Given the description of an element on the screen output the (x, y) to click on. 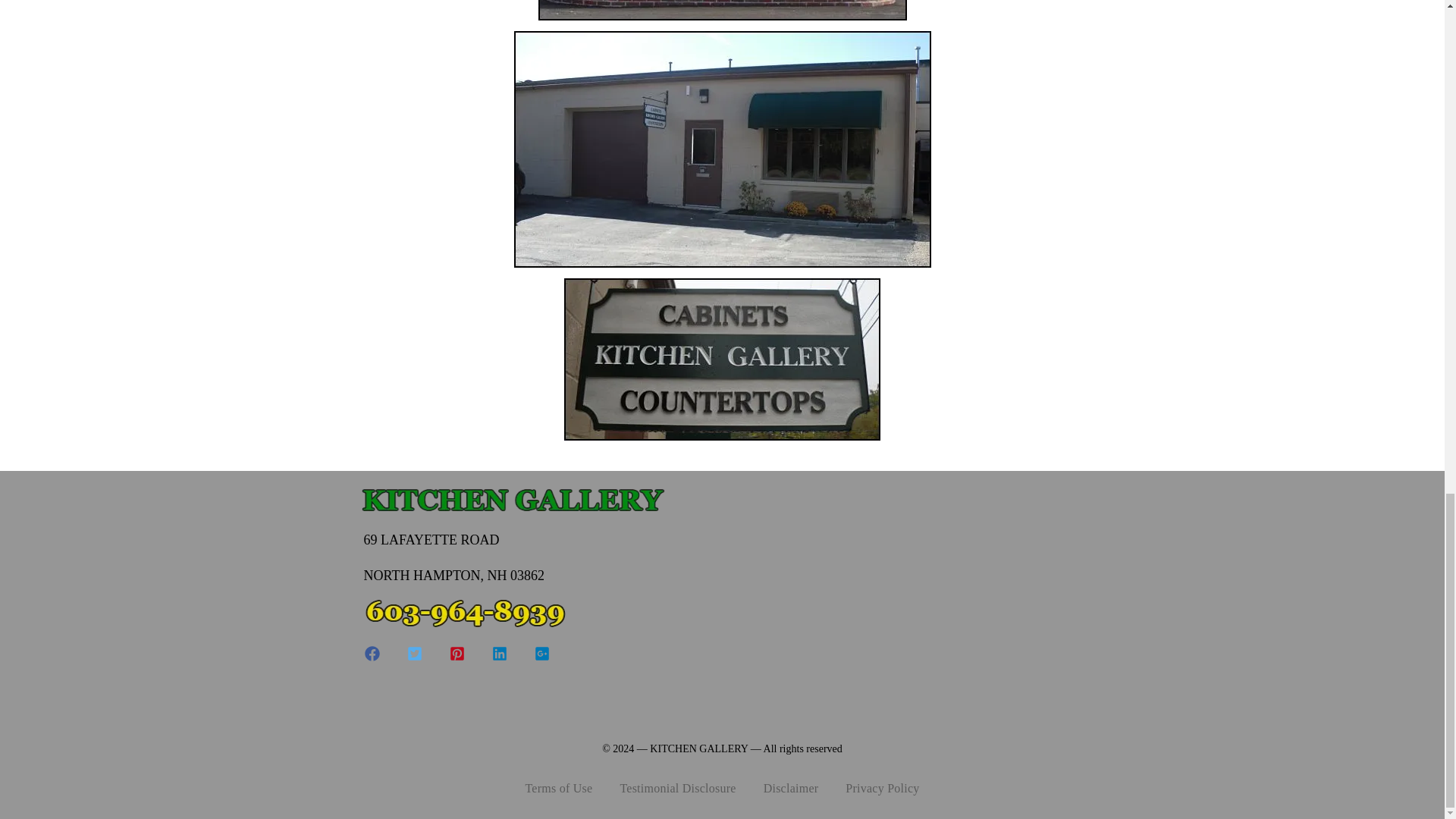
Terms of Use (558, 788)
Disclaimer (790, 788)
Google Map for  (911, 597)
Village Shopping Center Readerboard (722, 10)
Kitchen Gallery Sign (722, 359)
Testimonial Disclosure (677, 788)
Privacy Policy (881, 788)
